Given the description of an element on the screen output the (x, y) to click on. 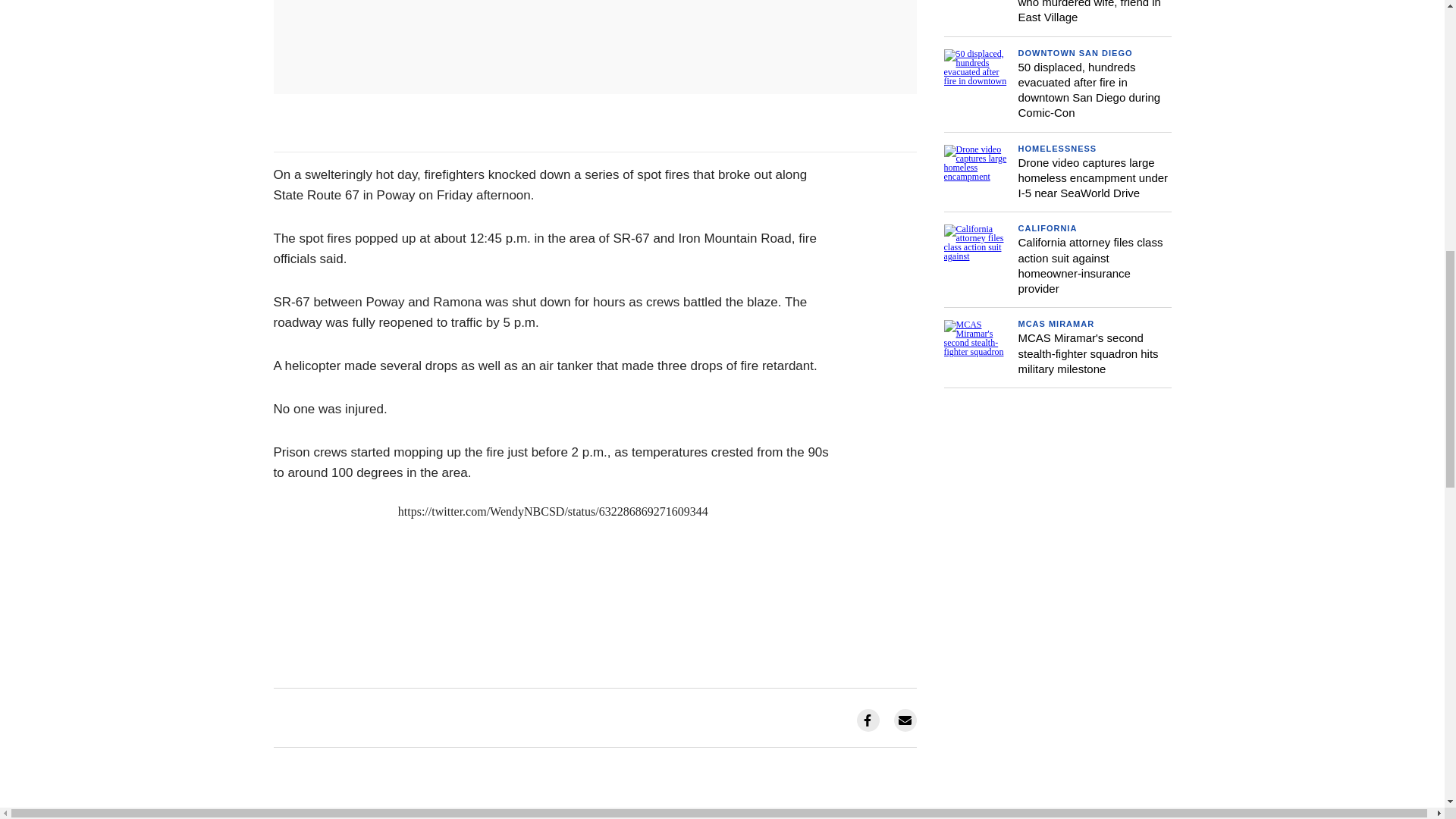
HOMELESSNESS (1056, 148)
DOWNTOWN SAN DIEGO (1074, 52)
